Given the description of an element on the screen output the (x, y) to click on. 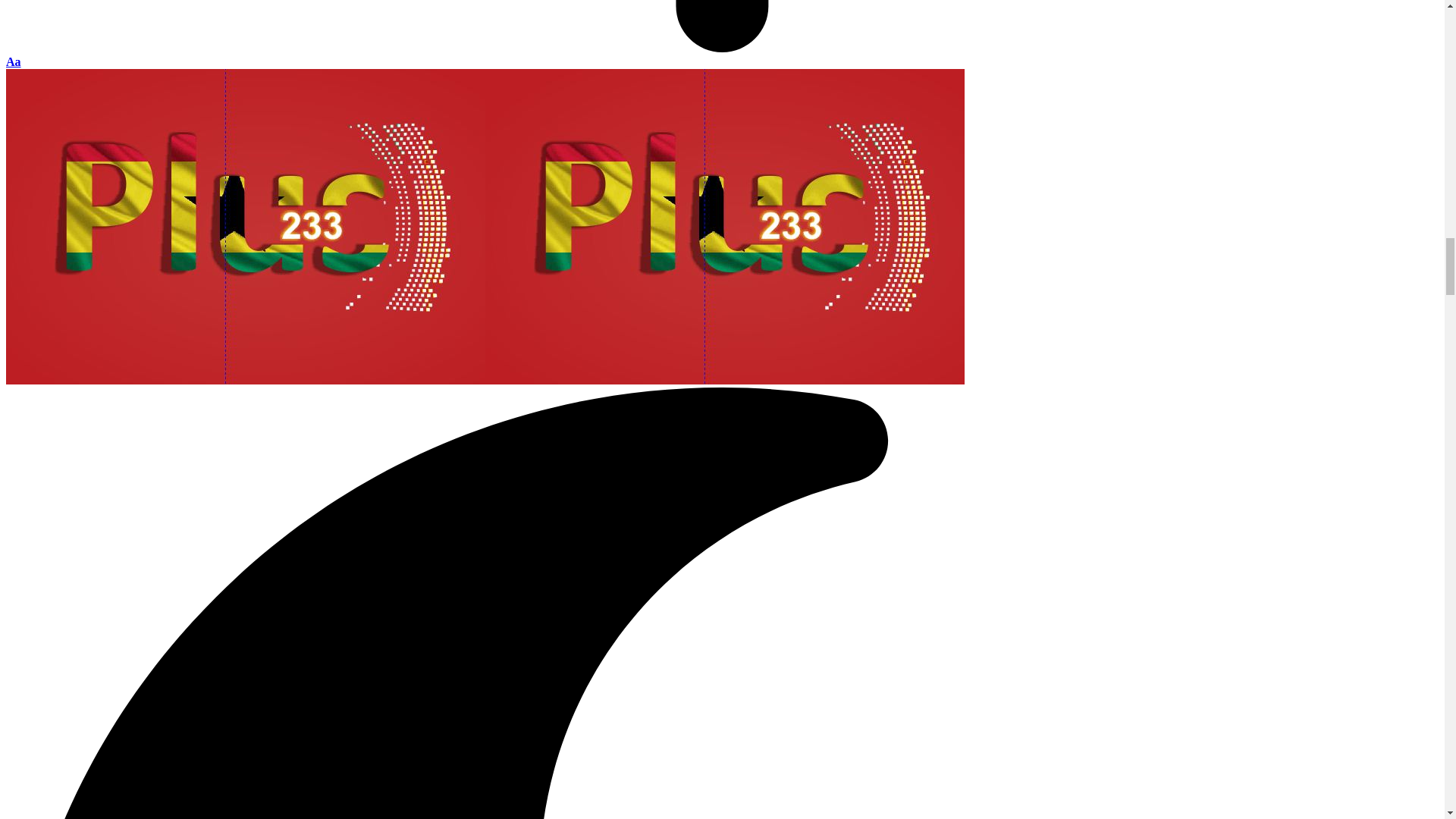
Aa (13, 61)
Plus233 (484, 379)
